Given the description of an element on the screen output the (x, y) to click on. 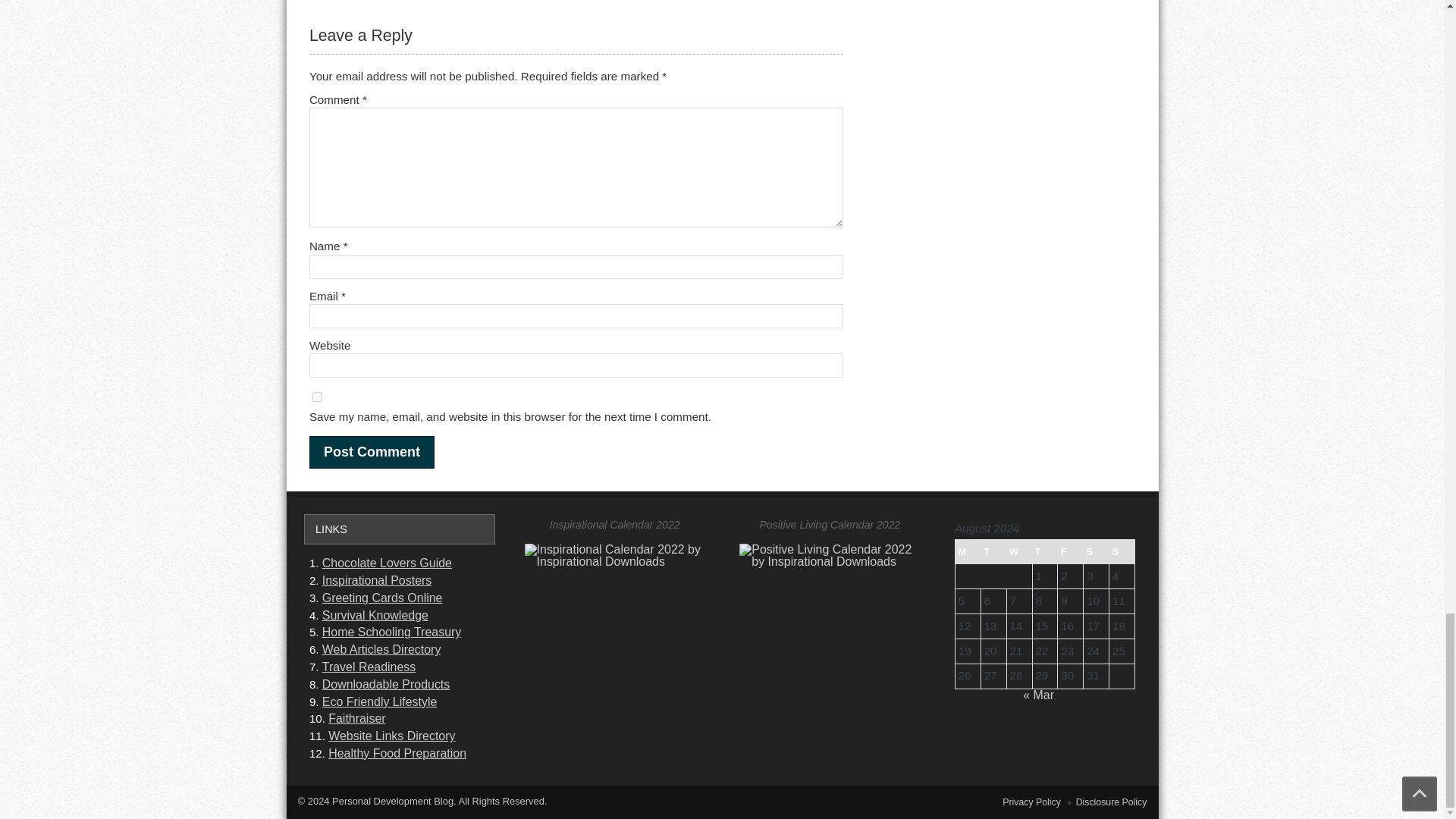
yes (317, 397)
Post Comment (370, 451)
